Given the description of an element on the screen output the (x, y) to click on. 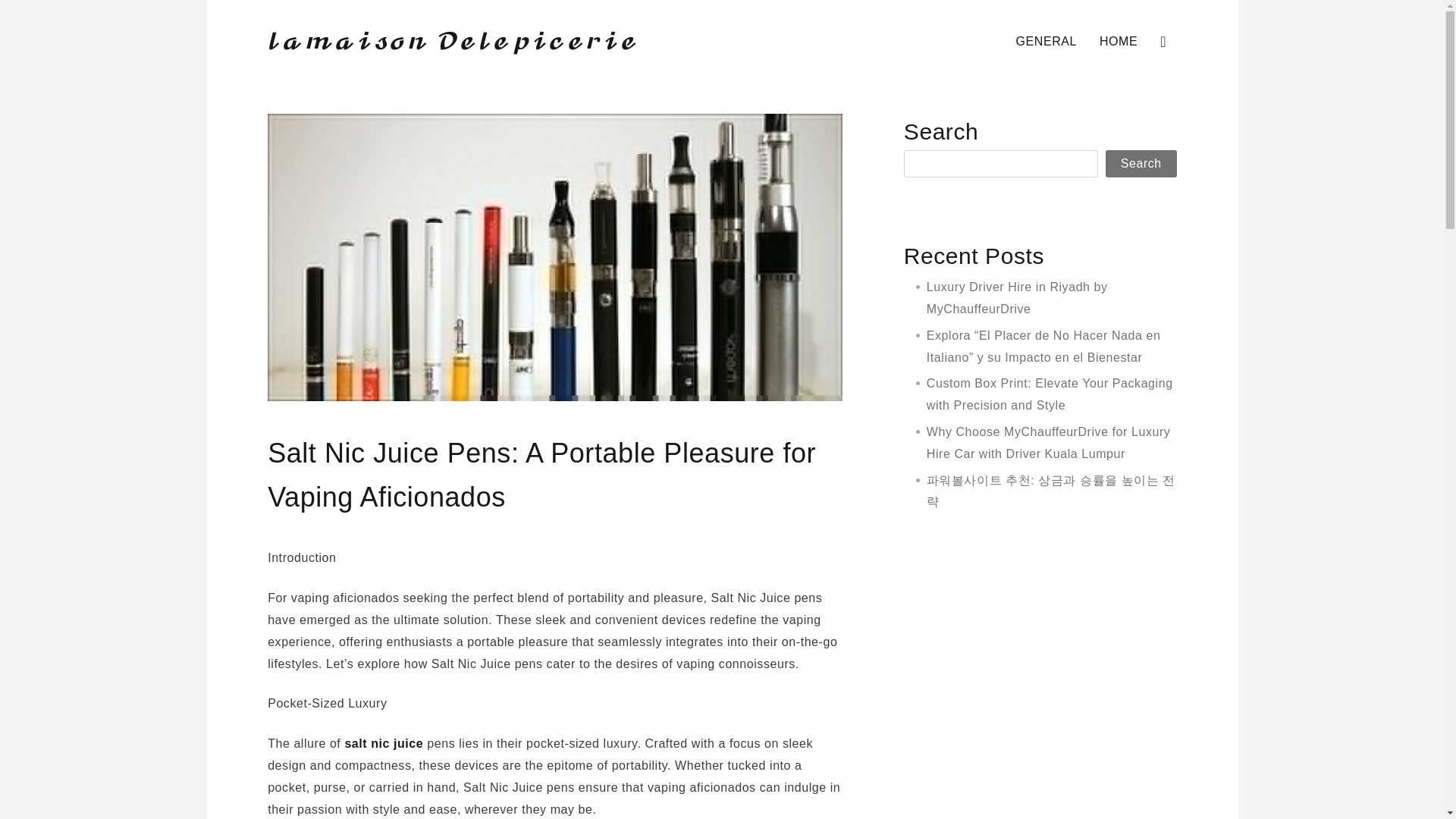
HOME (1117, 41)
salt nic juice (383, 743)
GENERAL (341, 73)
GENERAL (1045, 41)
Search (1140, 163)
Luxury Driver Hire in Riyadh by MyChauffeurDrive (1017, 297)
Search (1026, 369)
Home (282, 73)
